Given the description of an element on the screen output the (x, y) to click on. 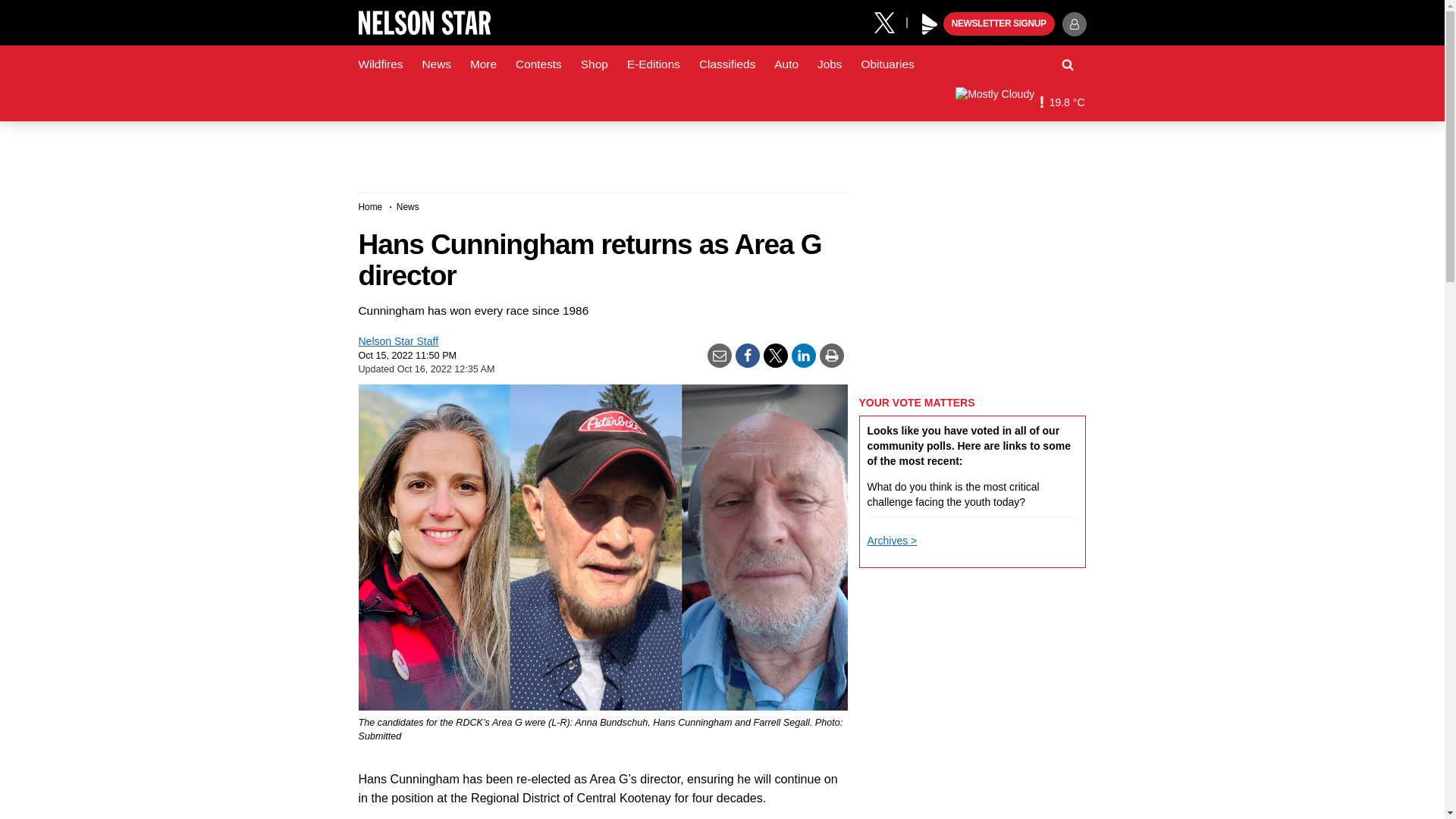
Wildfires (380, 64)
NEWSLETTER SIGNUP (998, 24)
X (889, 21)
Play (929, 24)
Black Press Media (929, 24)
News (435, 64)
